Given the description of an element on the screen output the (x, y) to click on. 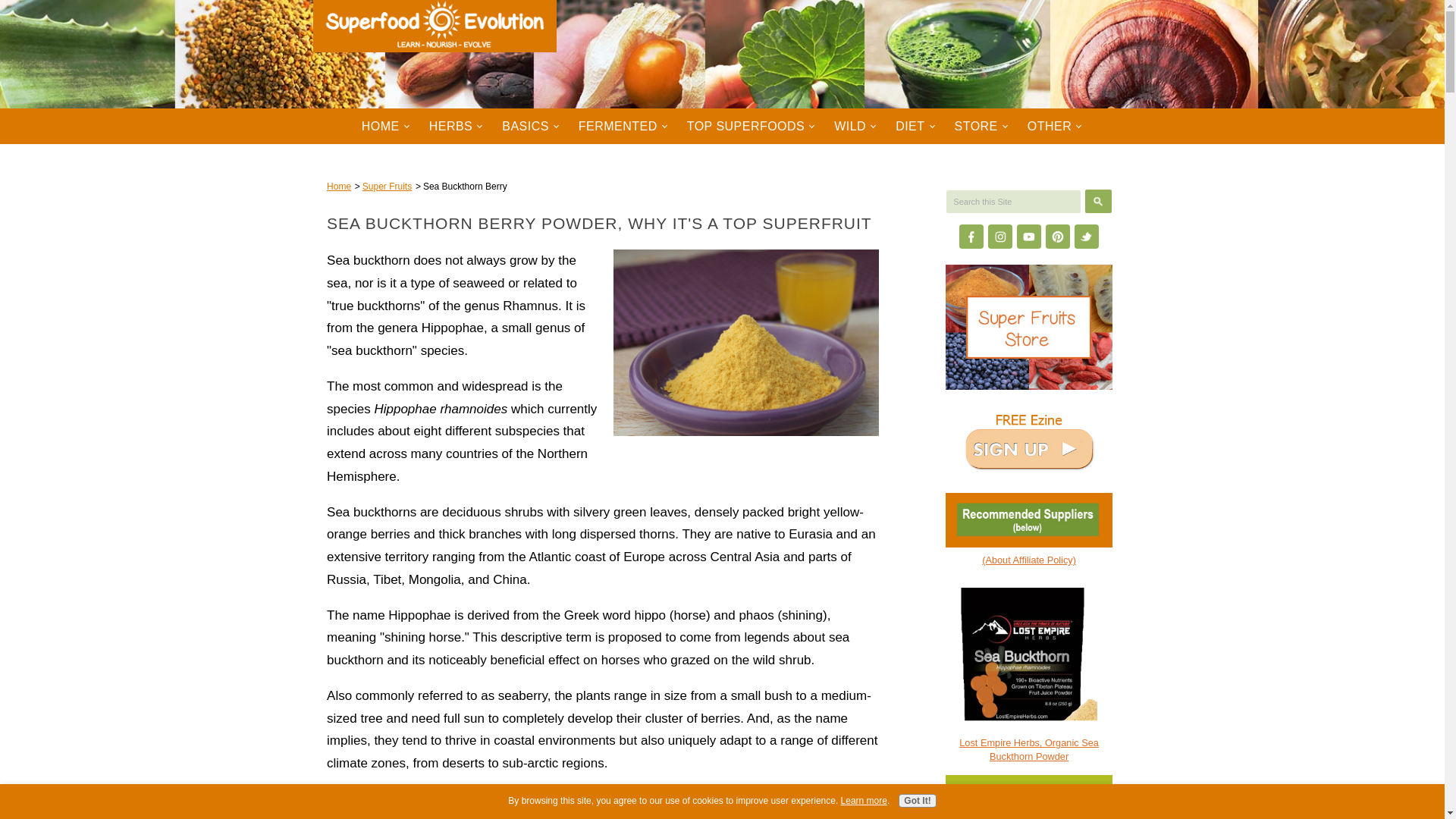
Search this Site (1013, 200)
Advertisement (602, 803)
Go (1098, 200)
Search this Site (1013, 200)
sea-buckthorn-berry-powder-drink (745, 342)
Home (338, 185)
SUPERFOOD EVOLUTION (434, 34)
Super Fruits (387, 185)
